Given the description of an element on the screen output the (x, y) to click on. 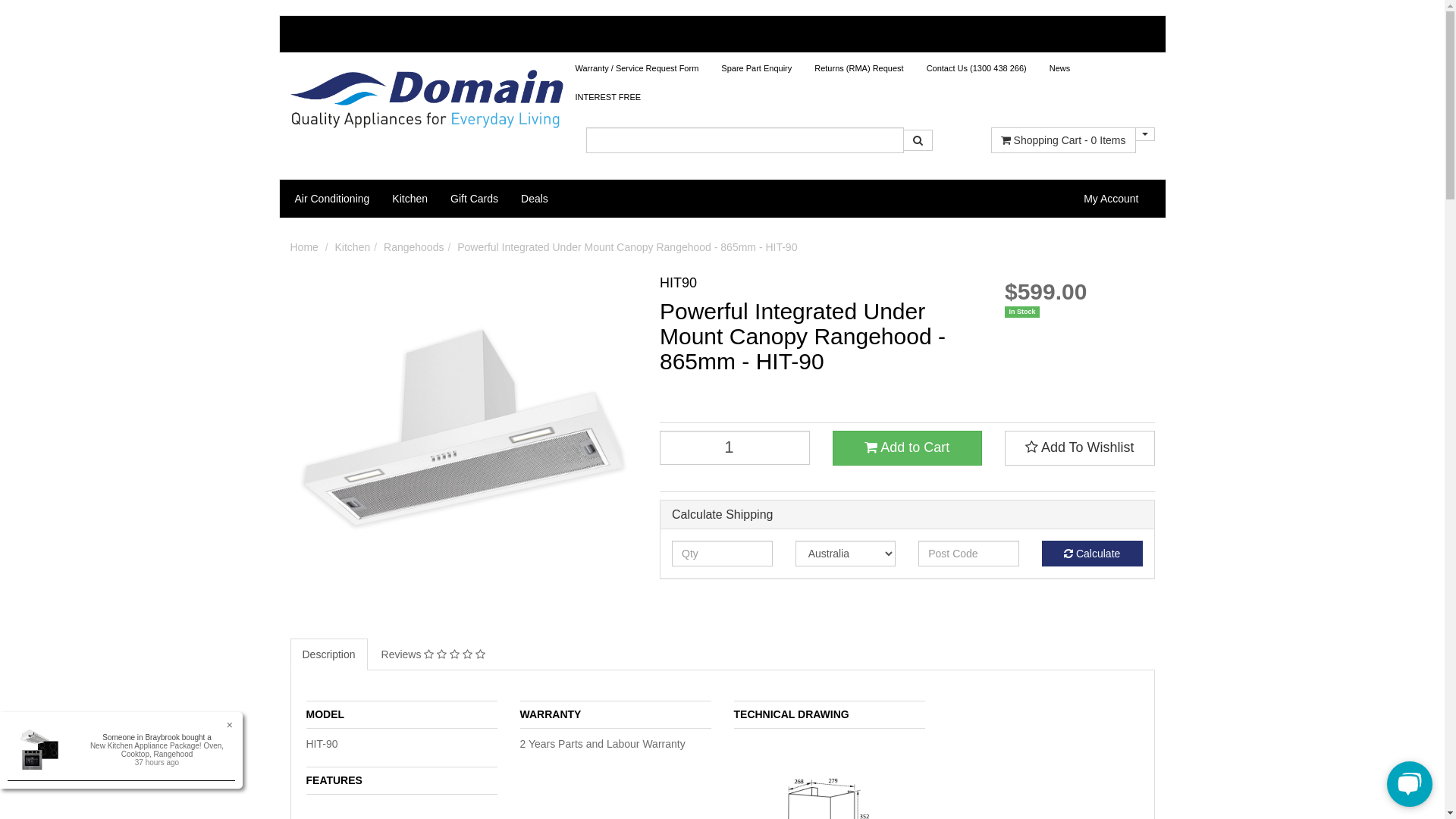
Shopping Cart - 0 Items Element type: text (1063, 140)
Search Element type: text (917, 139)
New Kitchen Appliance Package! Oven, Cooktop, Rangehood Element type: text (156, 749)
Add To Wishlist Element type: text (1079, 447)
My Account Element type: text (1110, 198)
Reviews Element type: text (433, 654)
Add to Cart Element type: text (907, 447)
Calculate Element type: text (1091, 553)
INTEREST FREE Element type: text (608, 96)
Description Element type: text (328, 654)
Air Conditioning Element type: text (332, 198)
Rangehoods Element type: text (413, 247)
Home Element type: text (303, 247)
News Element type: text (1060, 67)
Gift Cards Element type: text (474, 198)
Returns (RMA) Request Element type: text (858, 67)
Kitchen Element type: text (352, 247)
Spare Part Enquiry Element type: text (756, 67)
Warranty / Service Request Form Element type: text (637, 67)
Contact Us (1300 438 266) Element type: text (976, 67)
Deals Element type: text (534, 198)
Kitchen Element type: text (409, 198)
